Given the description of an element on the screen output the (x, y) to click on. 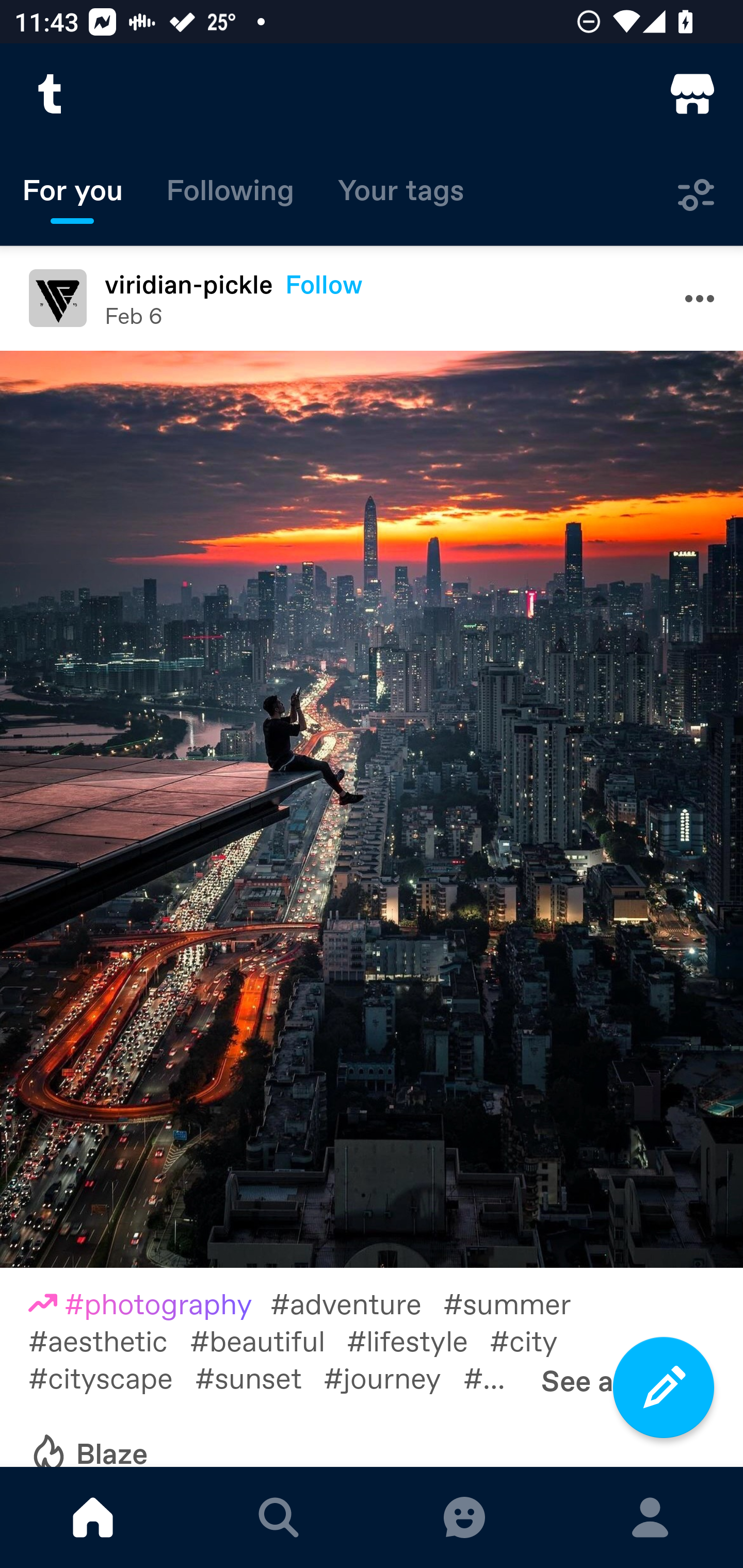
Tumblr (50, 93)
TumblrMart (692, 94)
Following (230, 195)
Your tags (400, 195)
Follow (323, 283)
#photography (149, 1302)
#adventure (356, 1302)
#summer (517, 1302)
#aesthetic (109, 1339)
#beautiful (268, 1339)
#lifestyle (417, 1339)
#city (534, 1339)
Compose a new post (663, 1387)
#cityscape (111, 1376)
#sunset (258, 1376)
#journey (393, 1376)
#… (494, 1376)
Blaze Blaze Blaze (88, 1440)
DASHBOARD (92, 1517)
EXPLORE (278, 1517)
MESSAGES (464, 1517)
ACCOUNT (650, 1517)
